Given the description of an element on the screen output the (x, y) to click on. 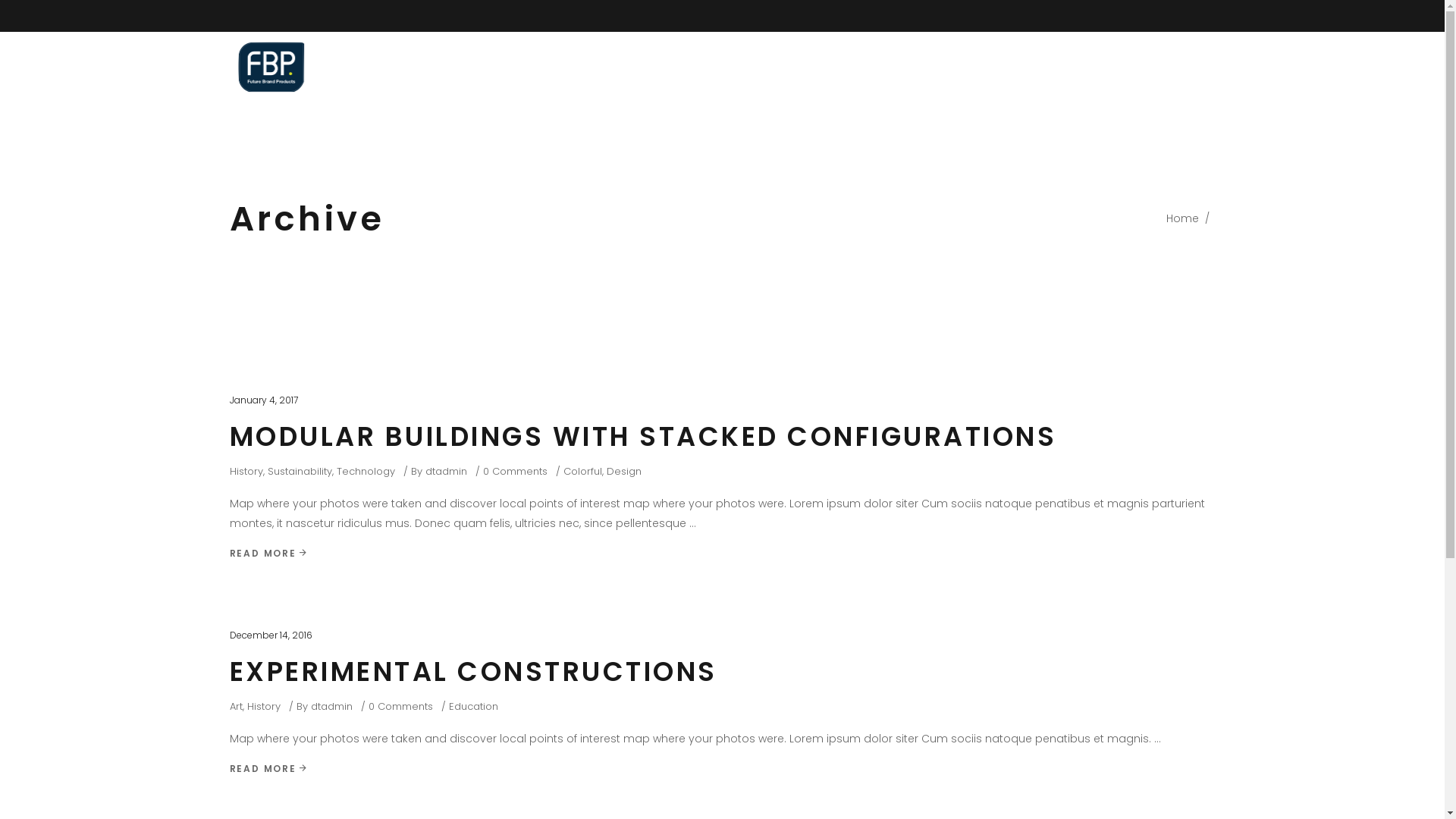
January 4, 2017 Element type: text (263, 399)
MODULAR BUILDINGS WITH STACKED CONFIGURATIONS Element type: text (642, 436)
Contact Us Element type: text (1170, 65)
Design Element type: text (623, 471)
READ MORE Element type: text (268, 768)
Home Element type: text (1182, 218)
December 14, 2016 Element type: text (270, 634)
Technology Element type: text (365, 471)
READ MORE Element type: text (268, 553)
Education Element type: text (473, 706)
dtadmin Element type: text (445, 471)
0 Comments Element type: text (514, 471)
Art Element type: text (235, 706)
Our Collections Element type: text (1067, 65)
dtadmin Element type: text (331, 706)
Home Element type: text (982, 65)
Colorful Element type: text (581, 471)
History Element type: text (245, 471)
0 Comments Element type: text (400, 706)
EXPERIMENTAL CONSTRUCTIONS Element type: text (472, 671)
History Element type: text (263, 706)
Sustainability Element type: text (298, 471)
